Given the description of an element on the screen output the (x, y) to click on. 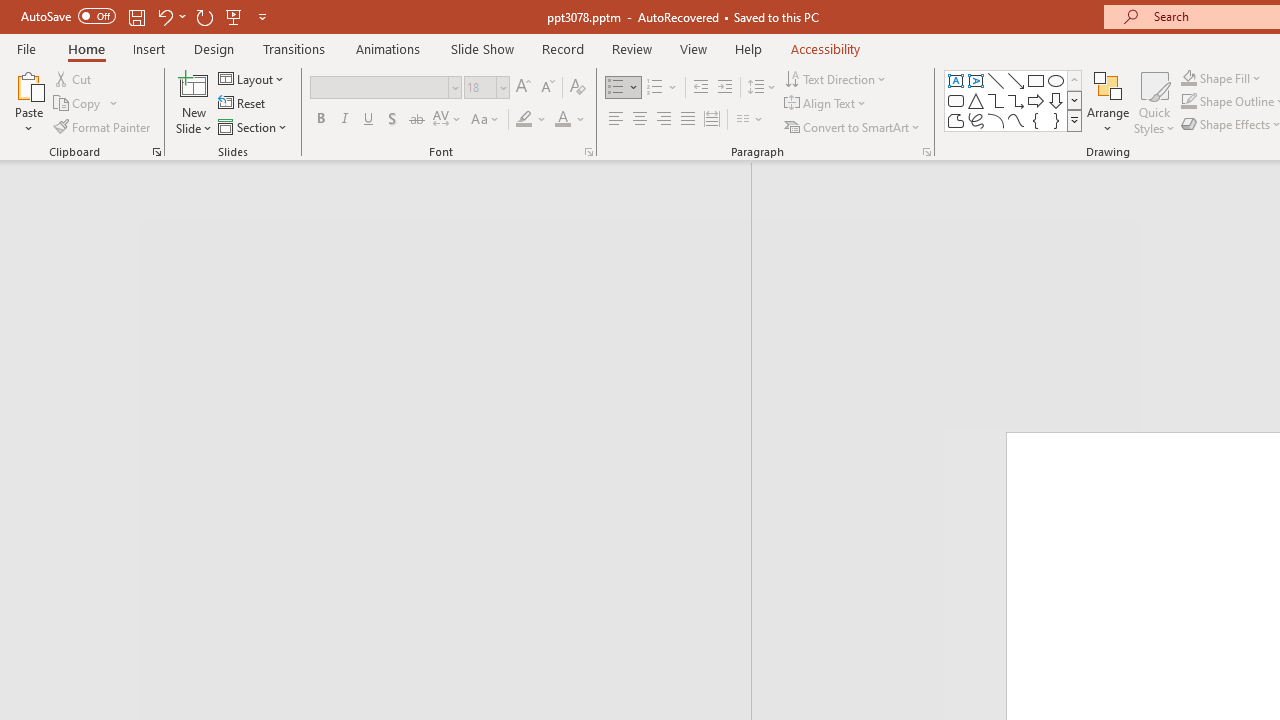
Align Right (663, 119)
Section (254, 126)
Curve (1016, 120)
Convert to SmartArt (853, 126)
Decrease Indent (700, 87)
Columns (750, 119)
Oval (1055, 80)
